Given the description of an element on the screen output the (x, y) to click on. 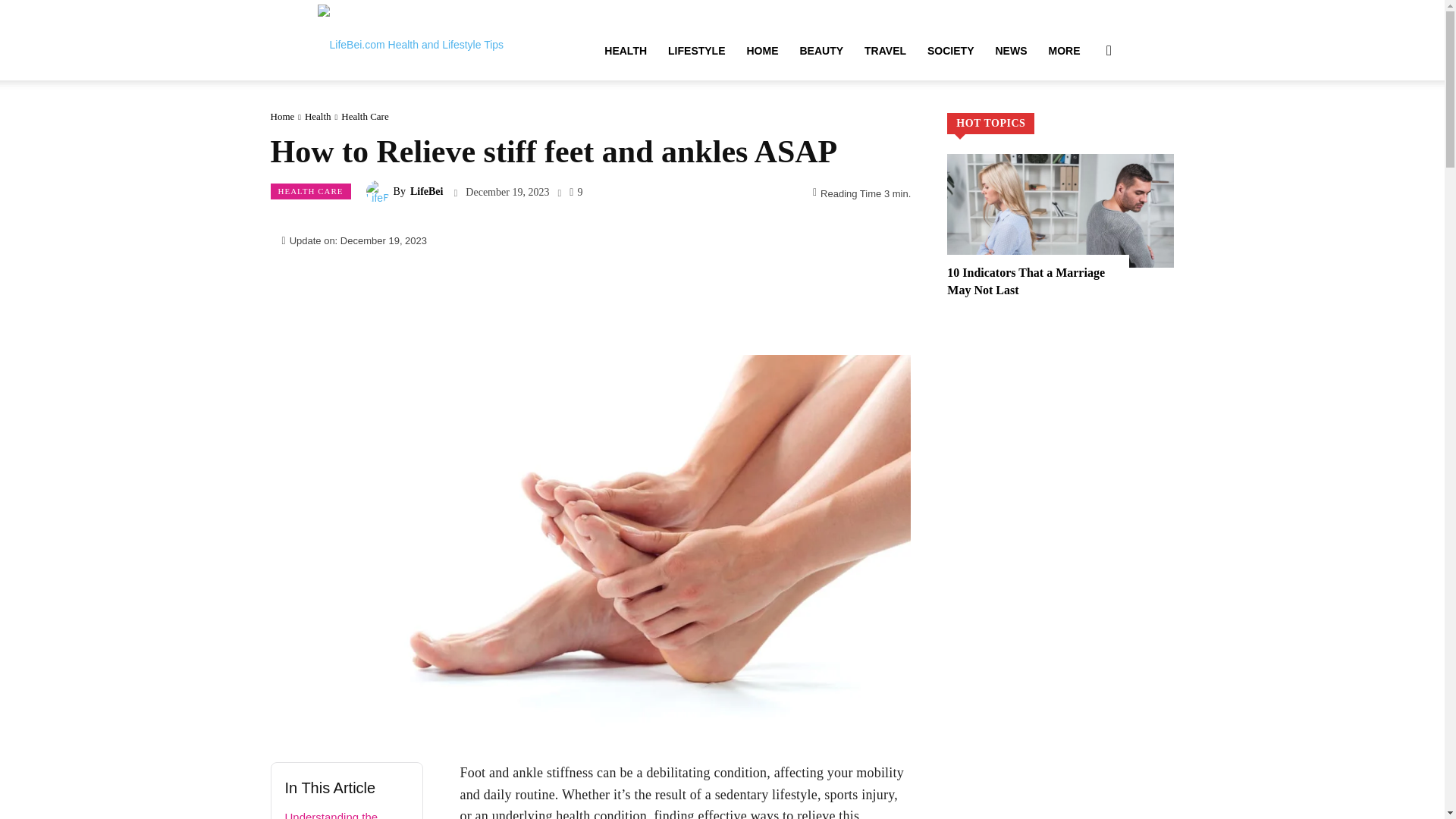
View all posts in Health (317, 116)
HEALTH (626, 50)
10 Indicators That a Marriage May Not Last (1060, 210)
View all posts in Health Care (364, 116)
LifeBei Best Lifestyle Tips (410, 40)
HOME (762, 50)
LifeBei (410, 39)
LIFESTYLE (696, 50)
10 Indicators That a Marriage May Not Last (1026, 280)
LifeBei (379, 191)
